Given the description of an element on the screen output the (x, y) to click on. 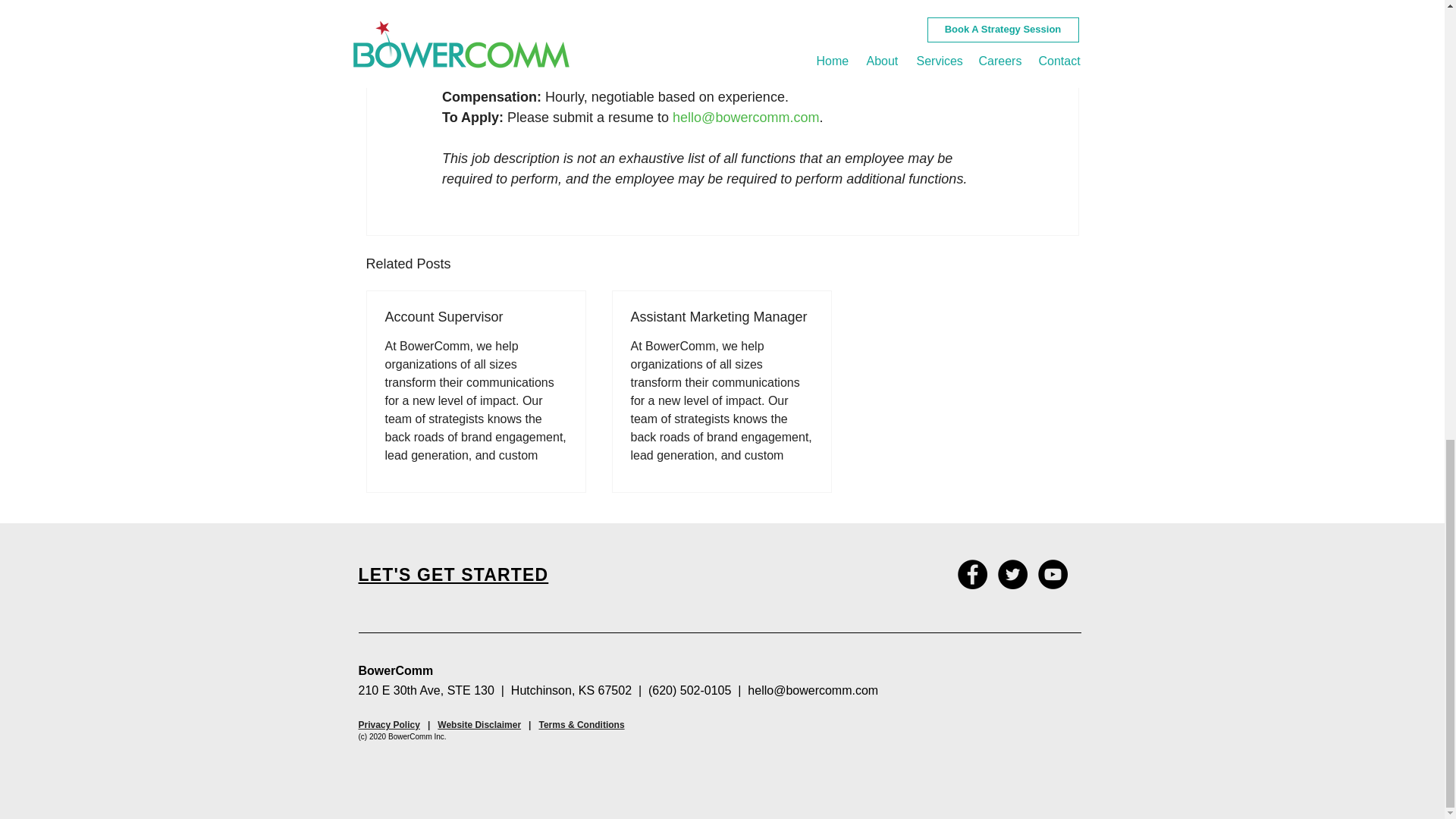
Assistant Marketing Manager (721, 317)
LET'S GET STARTED (453, 574)
Website Disclaimer (479, 724)
Privacy Policy (388, 724)
Account Supervisor (476, 317)
